Given the description of an element on the screen output the (x, y) to click on. 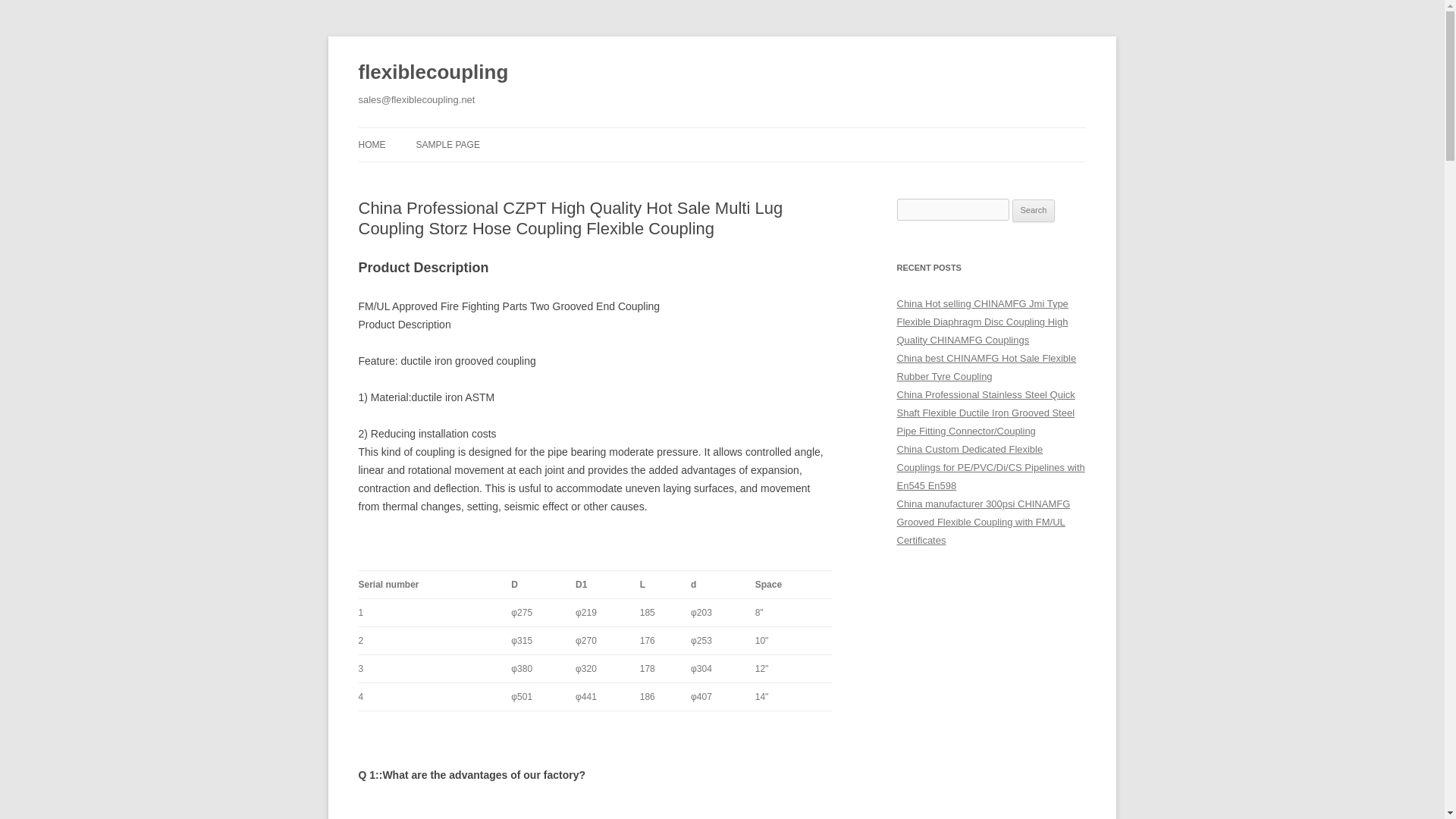
flexiblecoupling (433, 72)
China best CHINAMFG Hot Sale Flexible Rubber Tyre Coupling (985, 367)
SAMPLE PAGE (446, 144)
Search (1033, 210)
Search (1033, 210)
flexiblecoupling (433, 72)
